Given the description of an element on the screen output the (x, y) to click on. 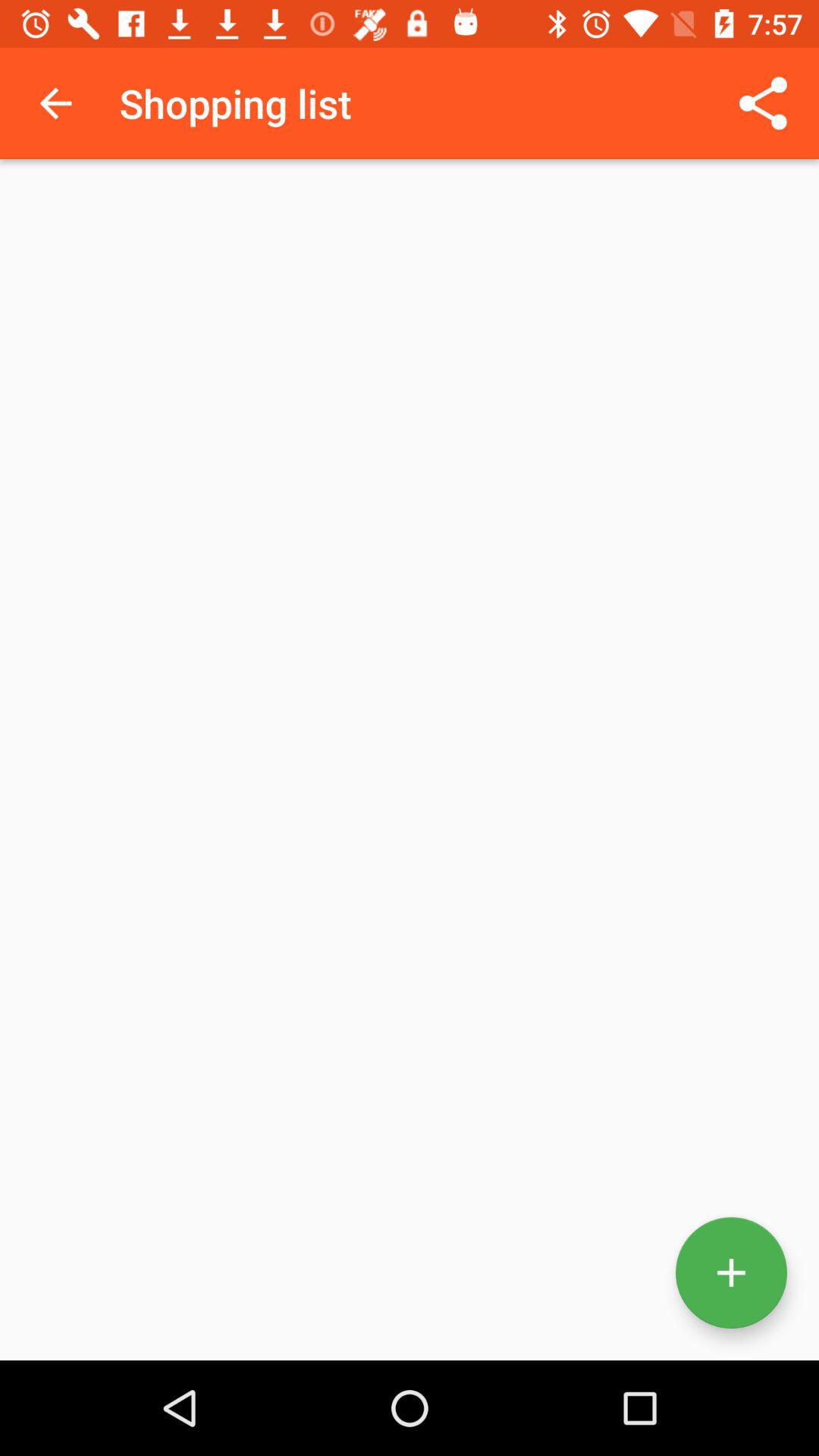
turn off the item at the bottom right corner (731, 1272)
